Given the description of an element on the screen output the (x, y) to click on. 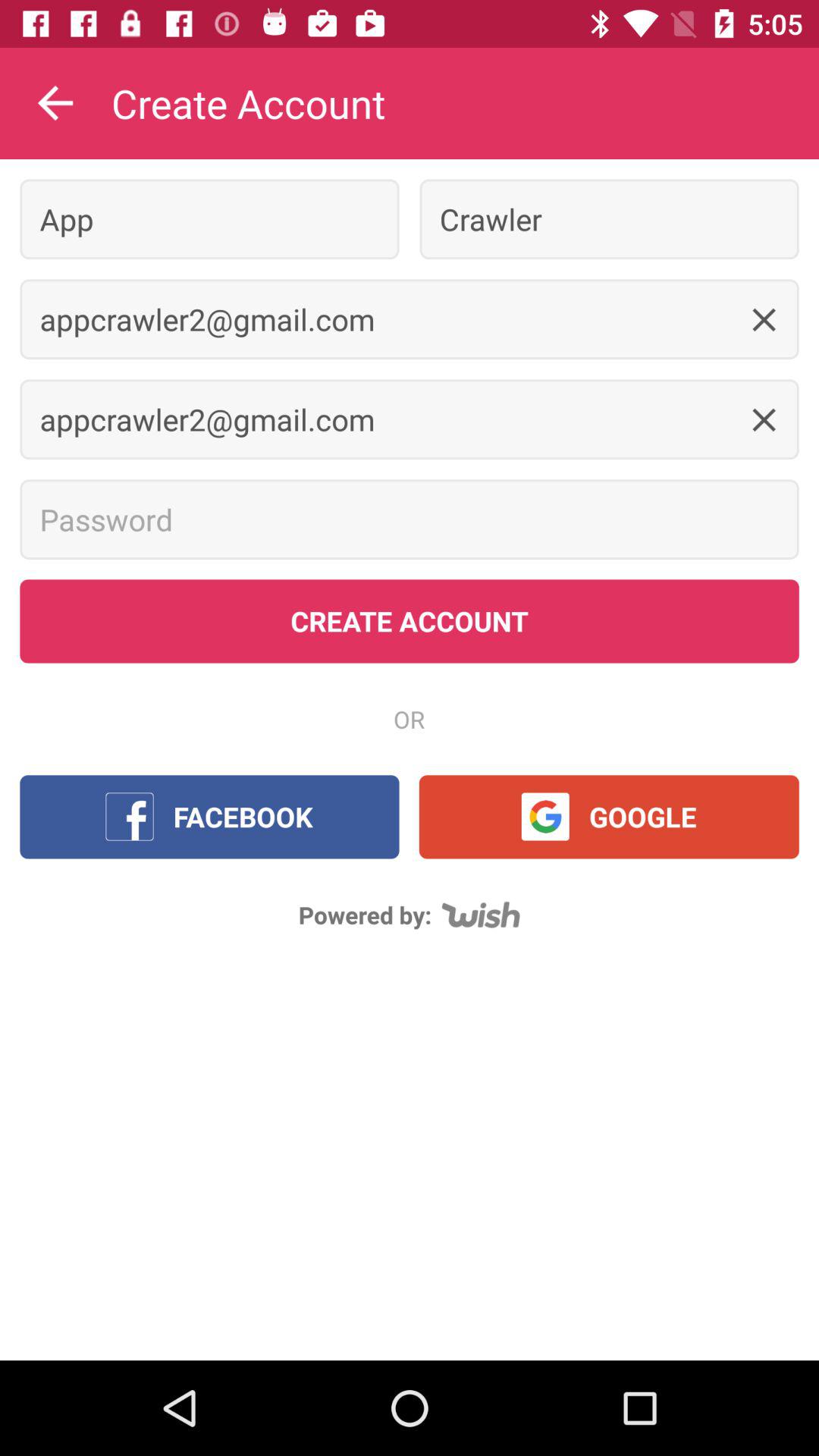
select item next to app (609, 219)
